Given the description of an element on the screen output the (x, y) to click on. 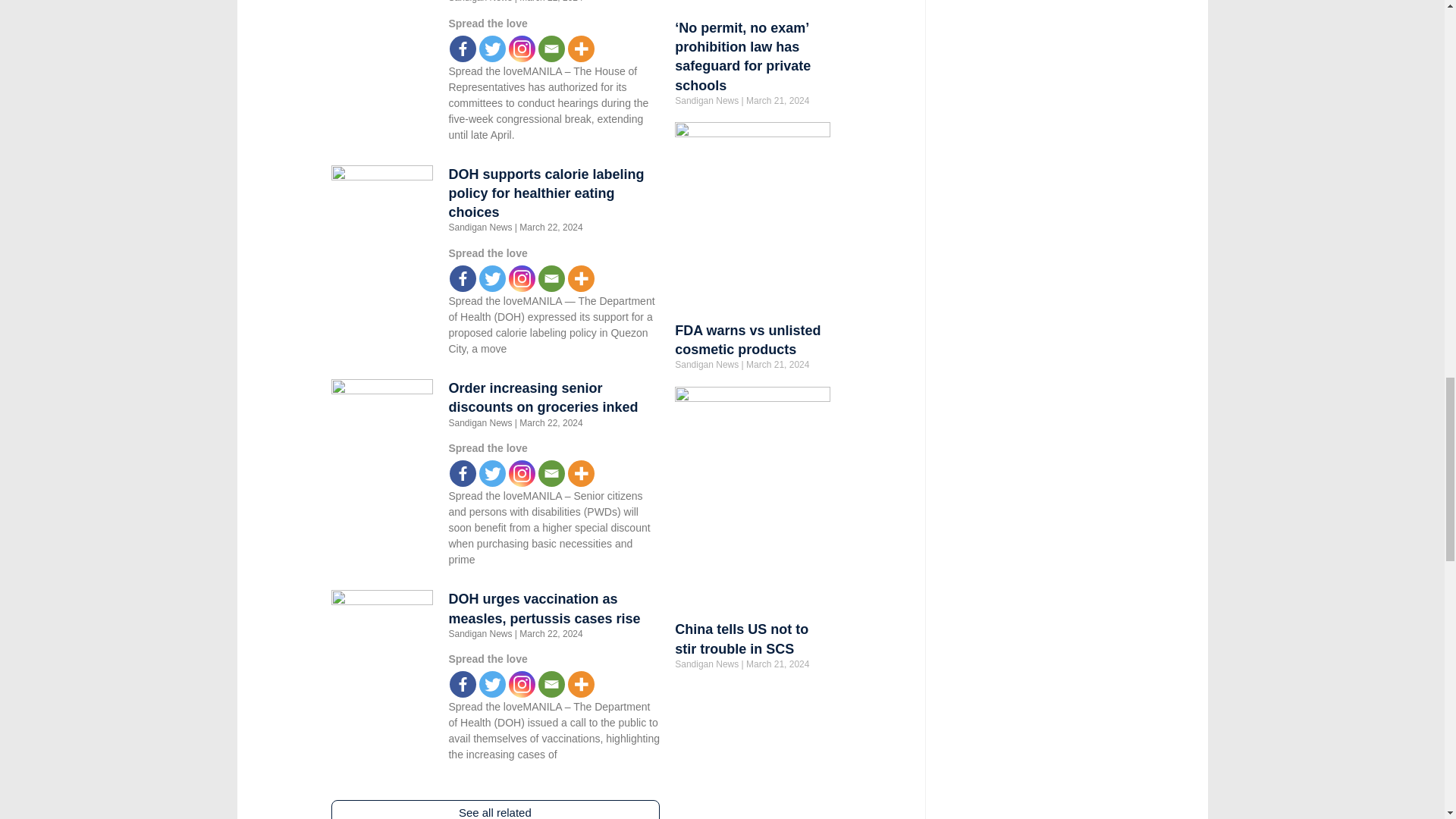
Facebook (462, 473)
Facebook (462, 49)
Twitter (492, 49)
Email (551, 49)
Facebook (462, 278)
Email (551, 278)
More (580, 278)
More (580, 49)
Instagram (521, 49)
